Given the description of an element on the screen output the (x, y) to click on. 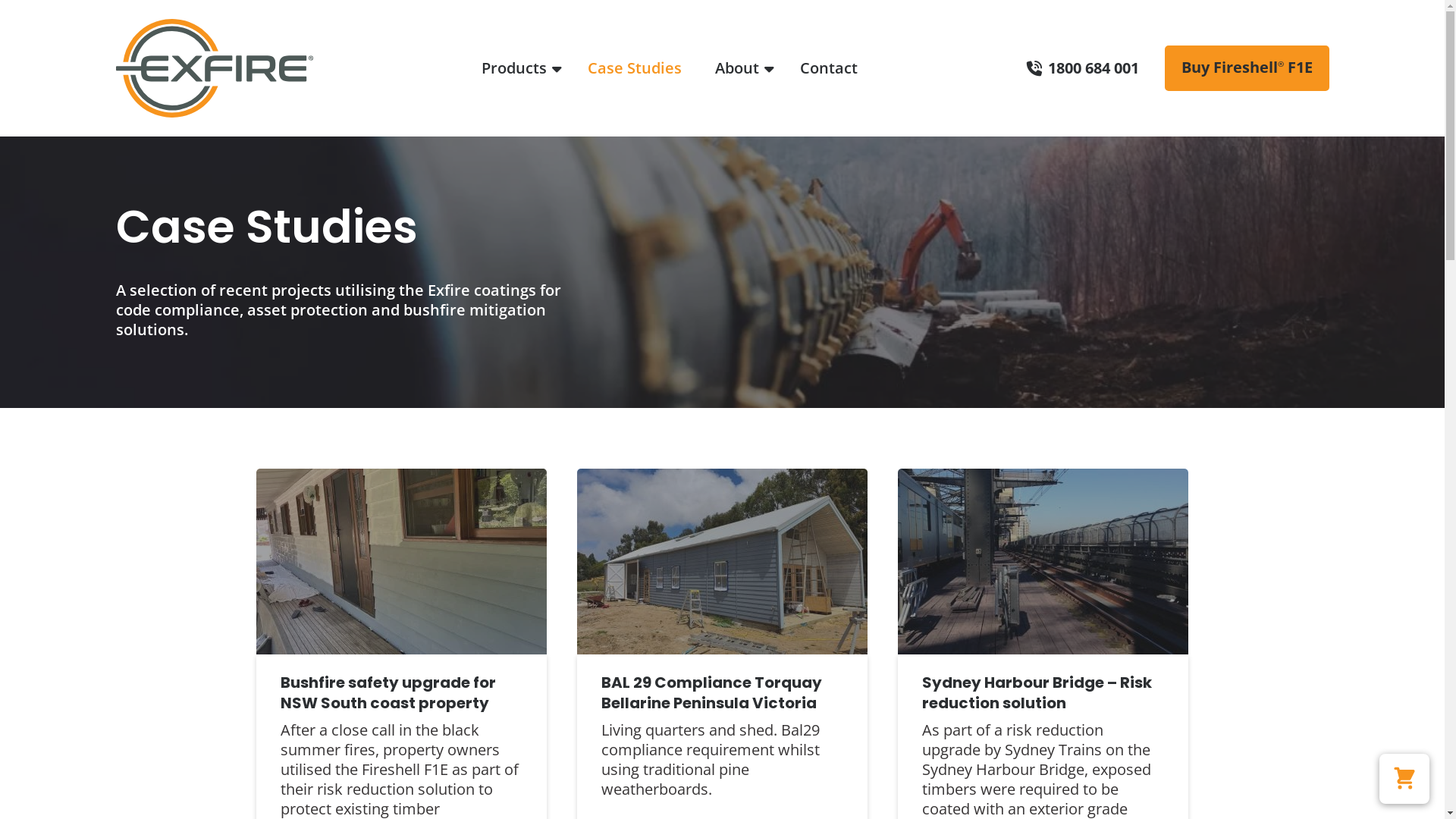
1800 684 001 Element type: text (1082, 67)
Products Element type: text (517, 68)
Bushfire safety upgrade for NSW South coast property Element type: text (401, 692)
About Element type: text (740, 68)
Case Studies Element type: text (634, 68)
Contact Element type: text (828, 68)
BAL 29 Compliance Torquay Bellarine Peninsula Victoria Element type: text (722, 692)
